Given the description of an element on the screen output the (x, y) to click on. 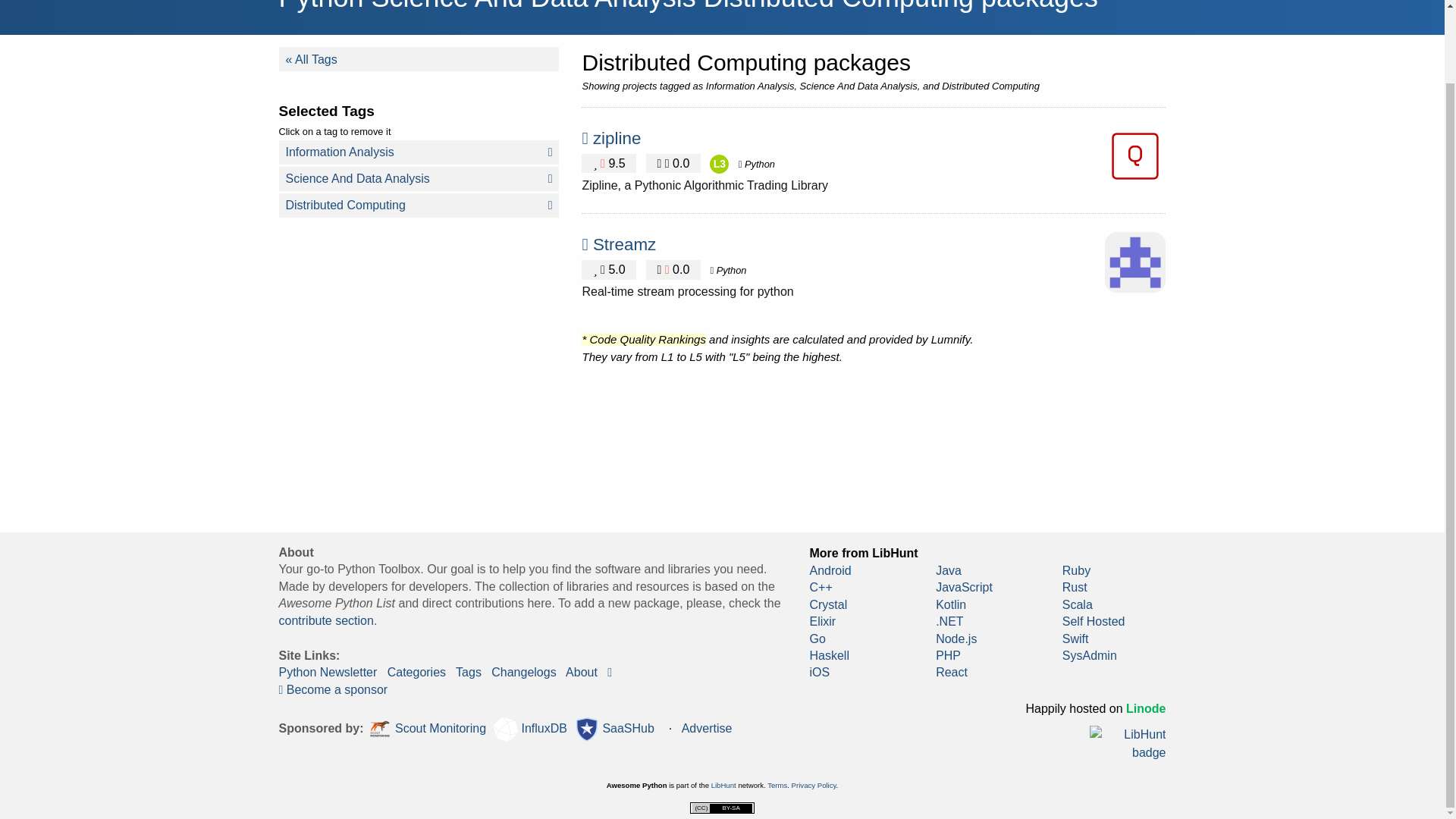
Become a sponsor (333, 689)
contribute section (326, 620)
Primary programming language (727, 270)
Categories (416, 671)
SaaSHub (614, 729)
Advertise (706, 727)
InfluxDB (530, 729)
Android (829, 570)
Changelogs (524, 671)
Scout Monitoring (427, 729)
Primary programming language (756, 163)
About (581, 671)
Python Newsletter (328, 671)
Streamz (624, 244)
zipline (616, 138)
